Given the description of an element on the screen output the (x, y) to click on. 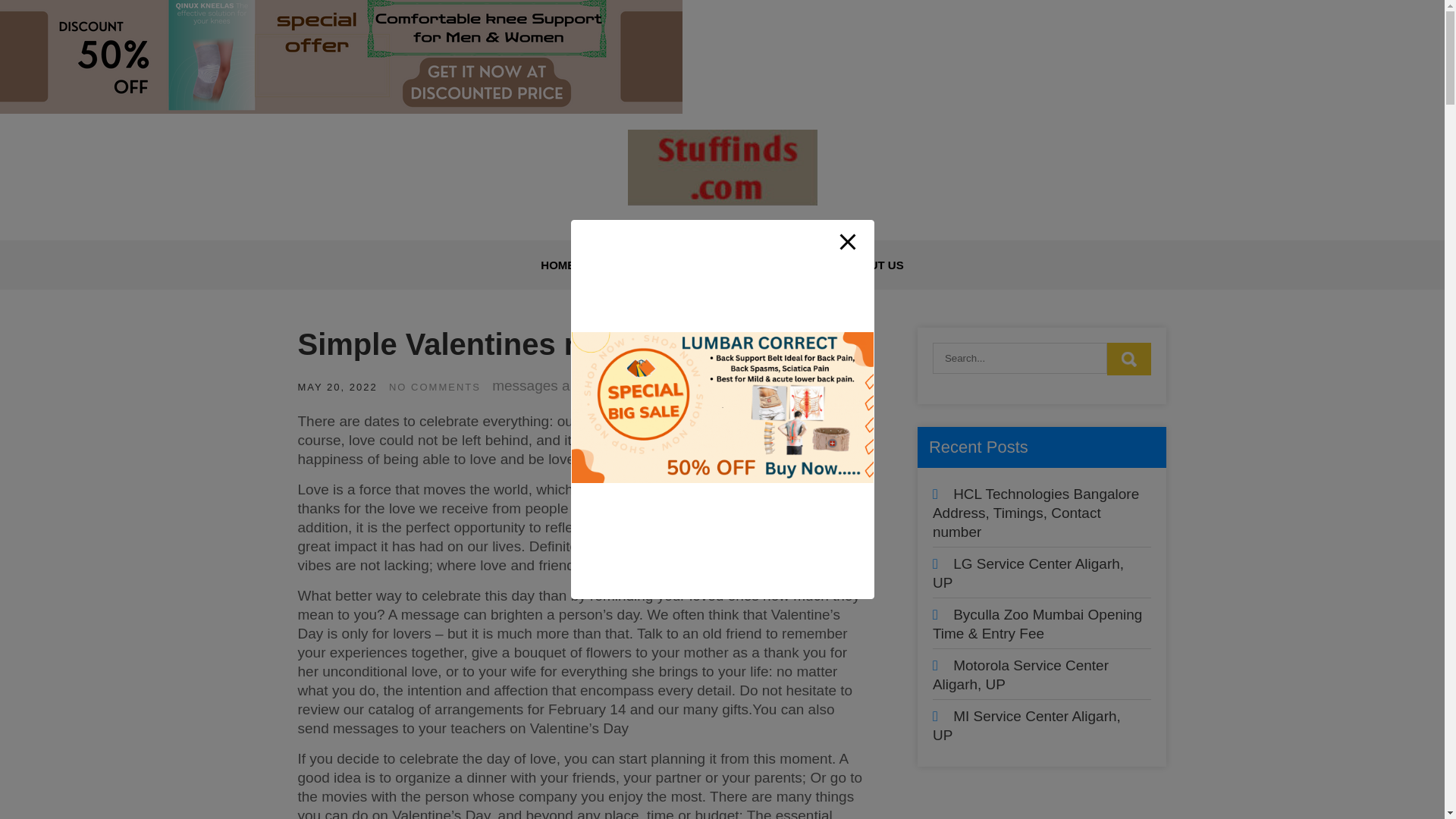
LG Service Center Aligarh, UP (1028, 573)
Search (1128, 359)
messages and quotes (562, 385)
CONTACT US (644, 264)
NO COMMENTS (434, 387)
MI Service Center Aligarh, UP (1027, 725)
Search (1128, 359)
Motorola Service Center Aligarh, UP (1020, 674)
Search (1128, 359)
HOME (557, 264)
HCL Technologies Bangalore Address, Timings, Contact number (1035, 512)
ABOUT US (873, 264)
PRIVACY POLICY (762, 264)
